Given the description of an element on the screen output the (x, y) to click on. 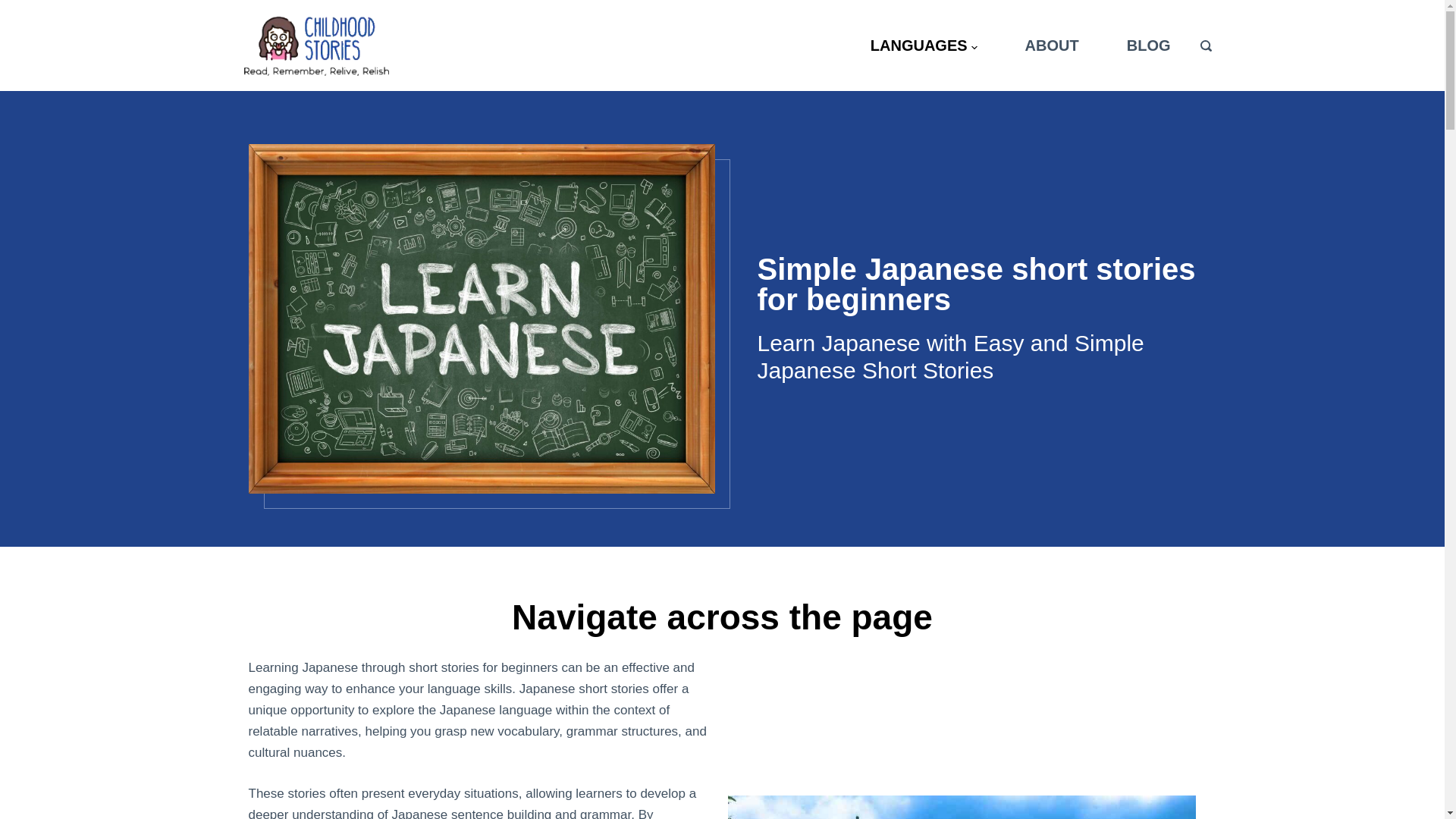
LANGUAGES (928, 45)
Skip to content (15, 7)
ABOUT (1050, 45)
